Given the description of an element on the screen output the (x, y) to click on. 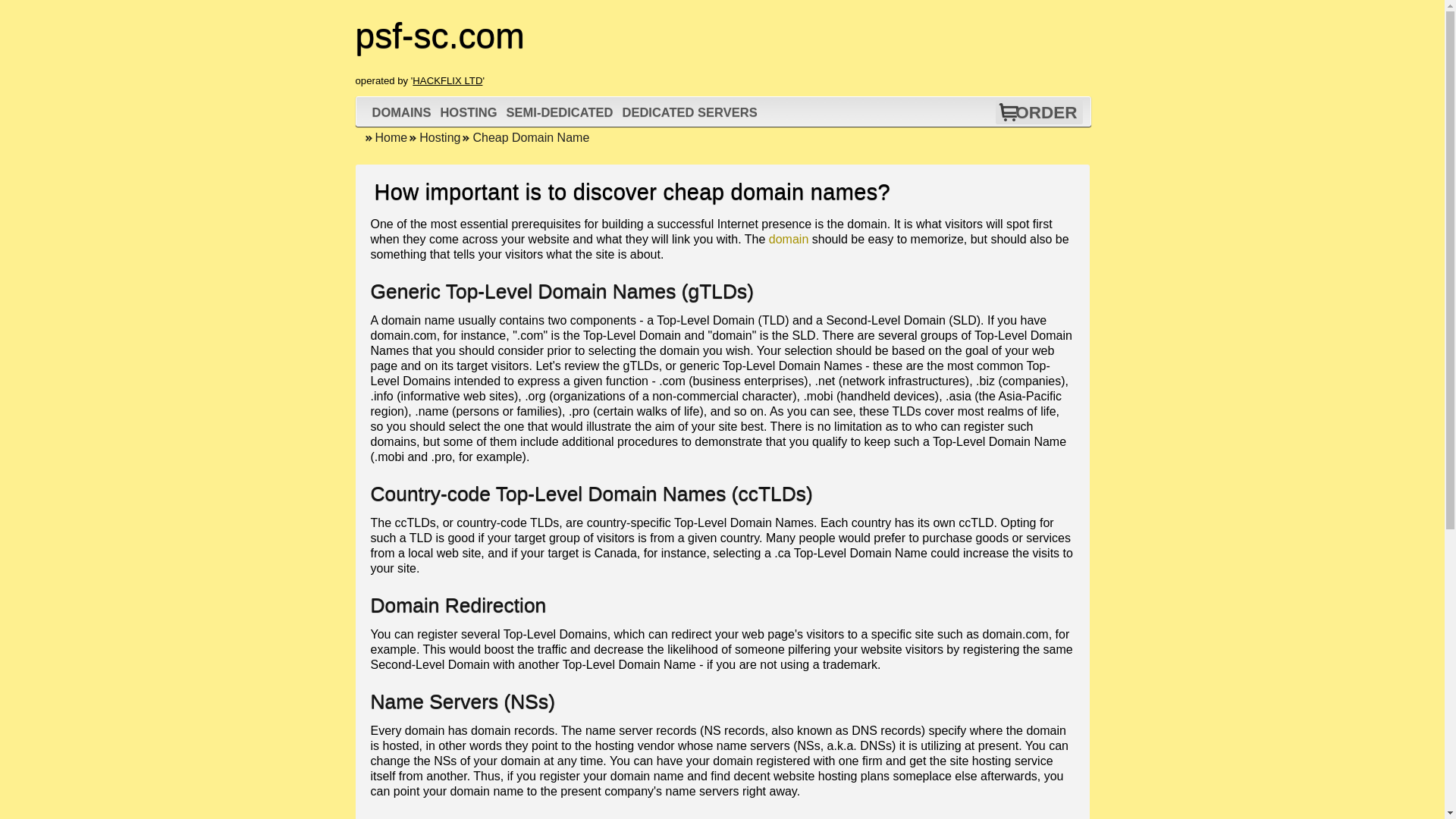
ORDER (1045, 112)
Hosting (433, 137)
HOSTING (467, 112)
DEDICATED SERVERS (688, 112)
domain (788, 238)
DOMAINS (401, 112)
Home (384, 137)
HACKFLIX LTD (446, 80)
SEMI-DEDICATED (559, 112)
